Given the description of an element on the screen output the (x, y) to click on. 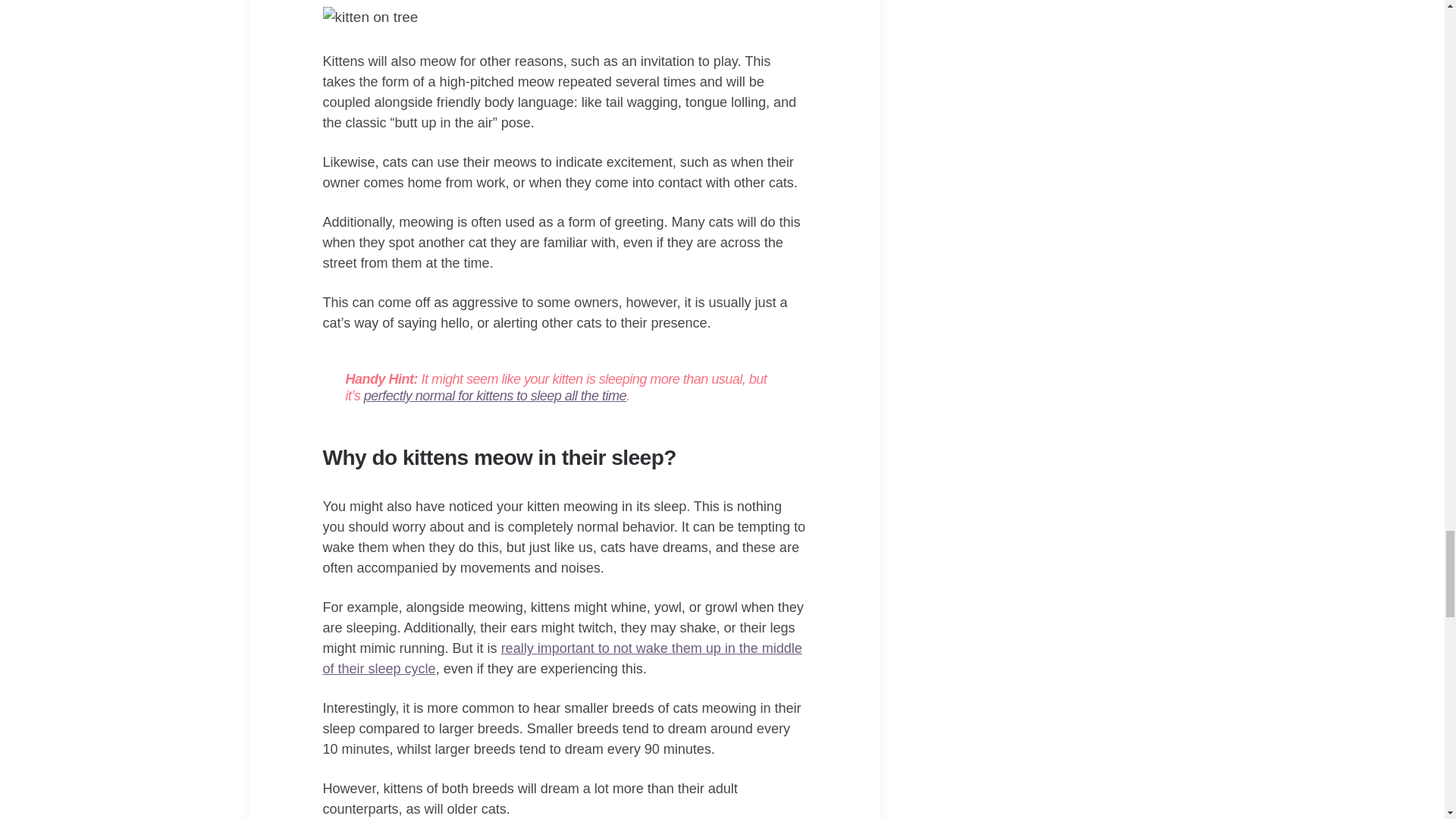
When Do Kittens Start Meowing? 33 (371, 17)
